Given the description of an element on the screen output the (x, y) to click on. 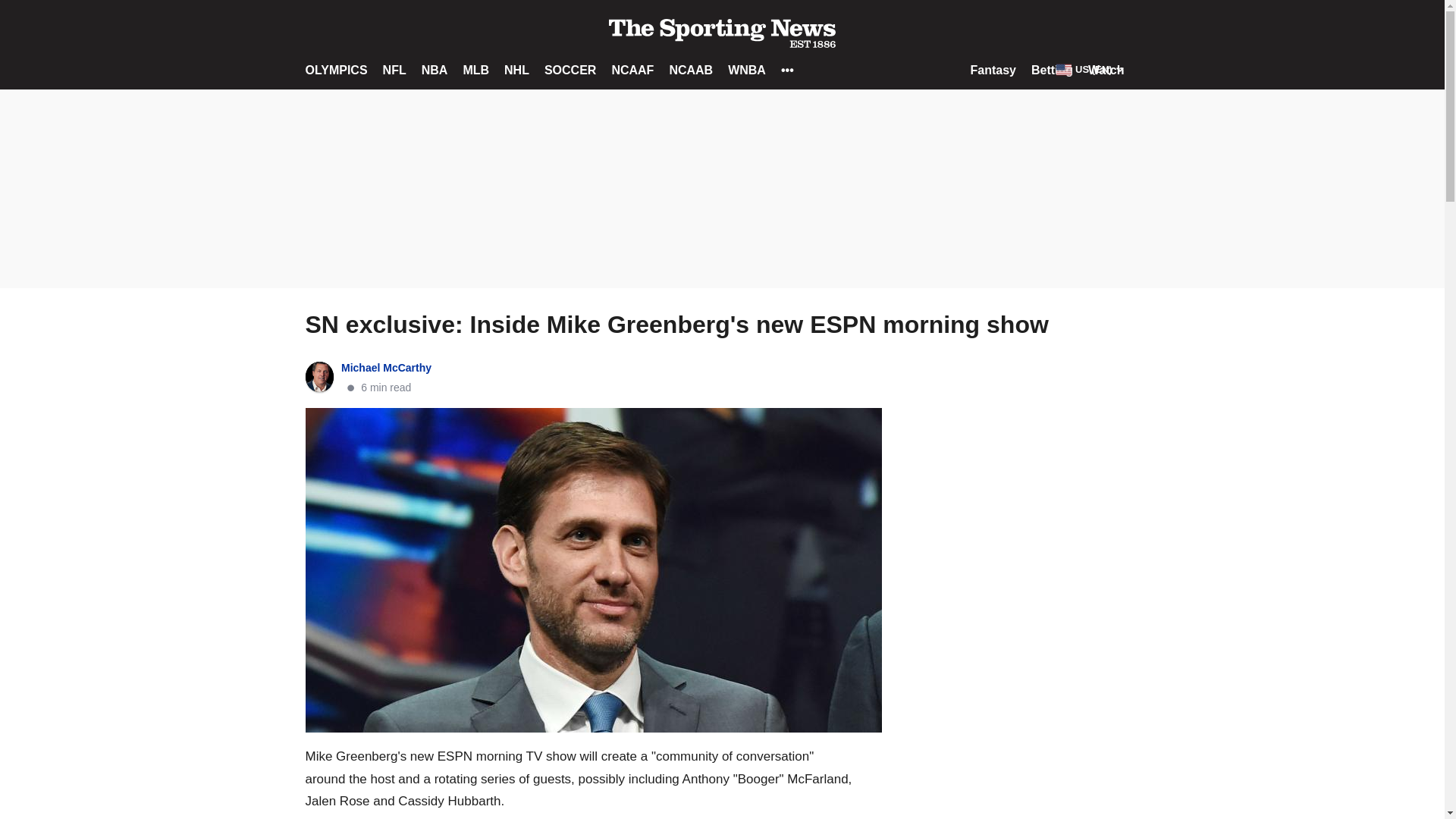
NCAAF (632, 70)
WNBA (746, 70)
NCAAB (690, 70)
SOCCER (569, 70)
OLYMPICS (335, 70)
